Given the description of an element on the screen output the (x, y) to click on. 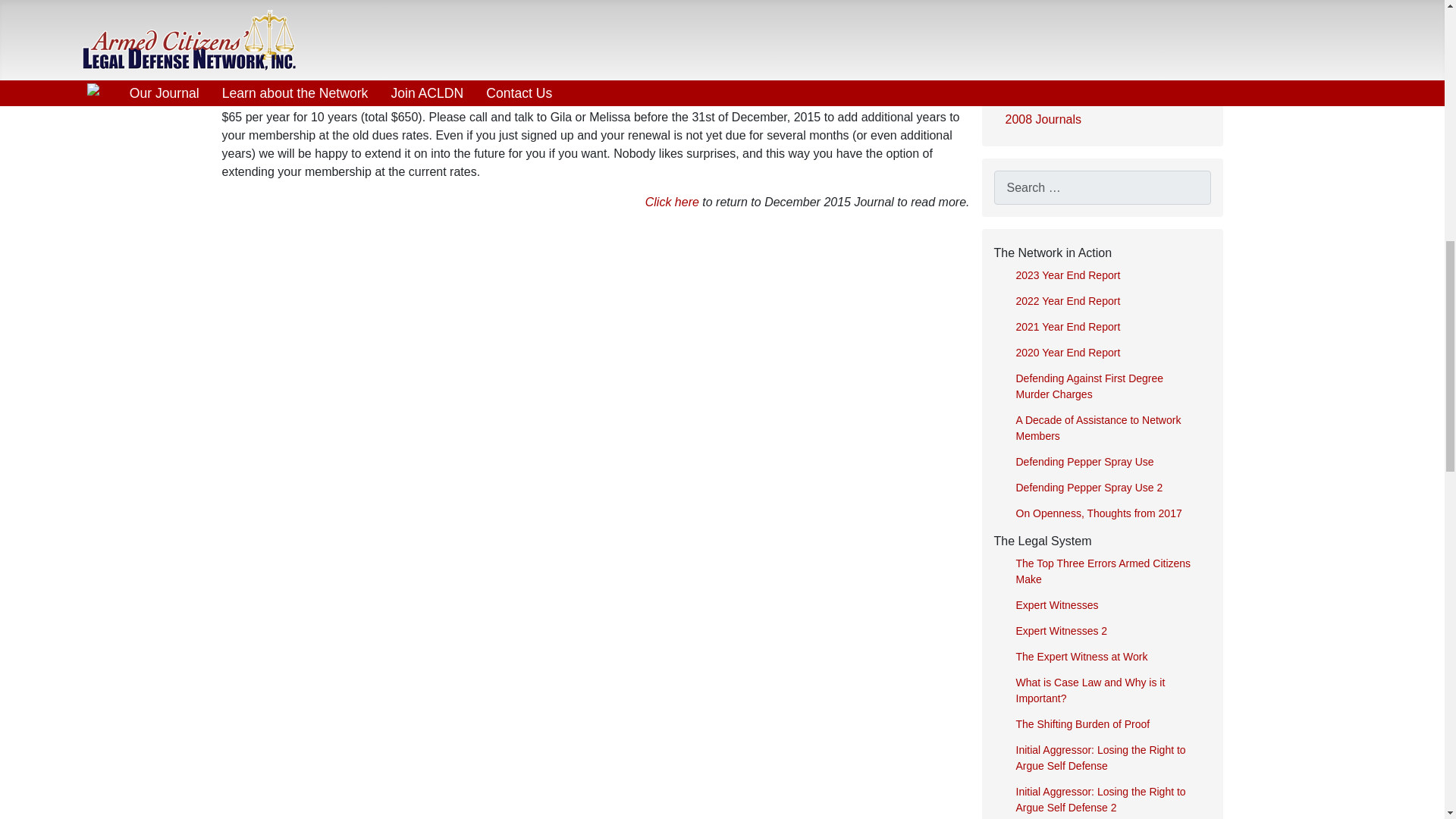
2011 Journals (1100, 33)
2008 Journals (1100, 119)
2009 Journals (1100, 90)
2012 Journals (1100, 7)
2022 Year End Report (1106, 301)
2010 Journals (1100, 61)
2023 Year End Report (1106, 275)
Click here (671, 201)
2020 Year End Report (1106, 353)
2021 Year End Report (1106, 326)
Defending Against First Degree Murder Charges (1106, 386)
